Given the description of an element on the screen output the (x, y) to click on. 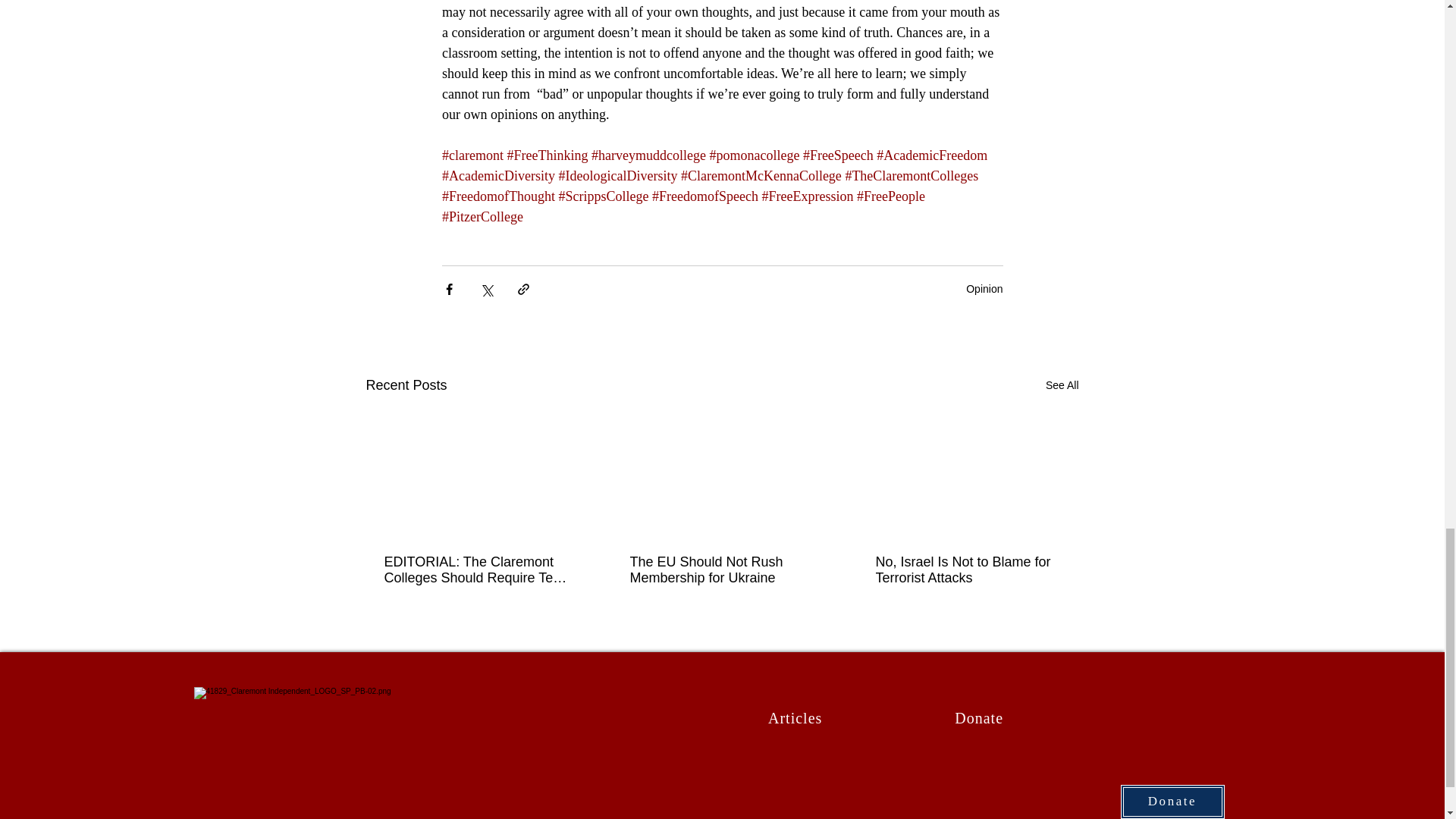
See All (1061, 385)
The EU Should Not Rush Membership for Ukraine (720, 569)
Donate (979, 717)
Opinion (984, 288)
No, Israel Is Not to Blame for Terrorist Attacks (966, 569)
Articles (794, 717)
